Given the description of an element on the screen output the (x, y) to click on. 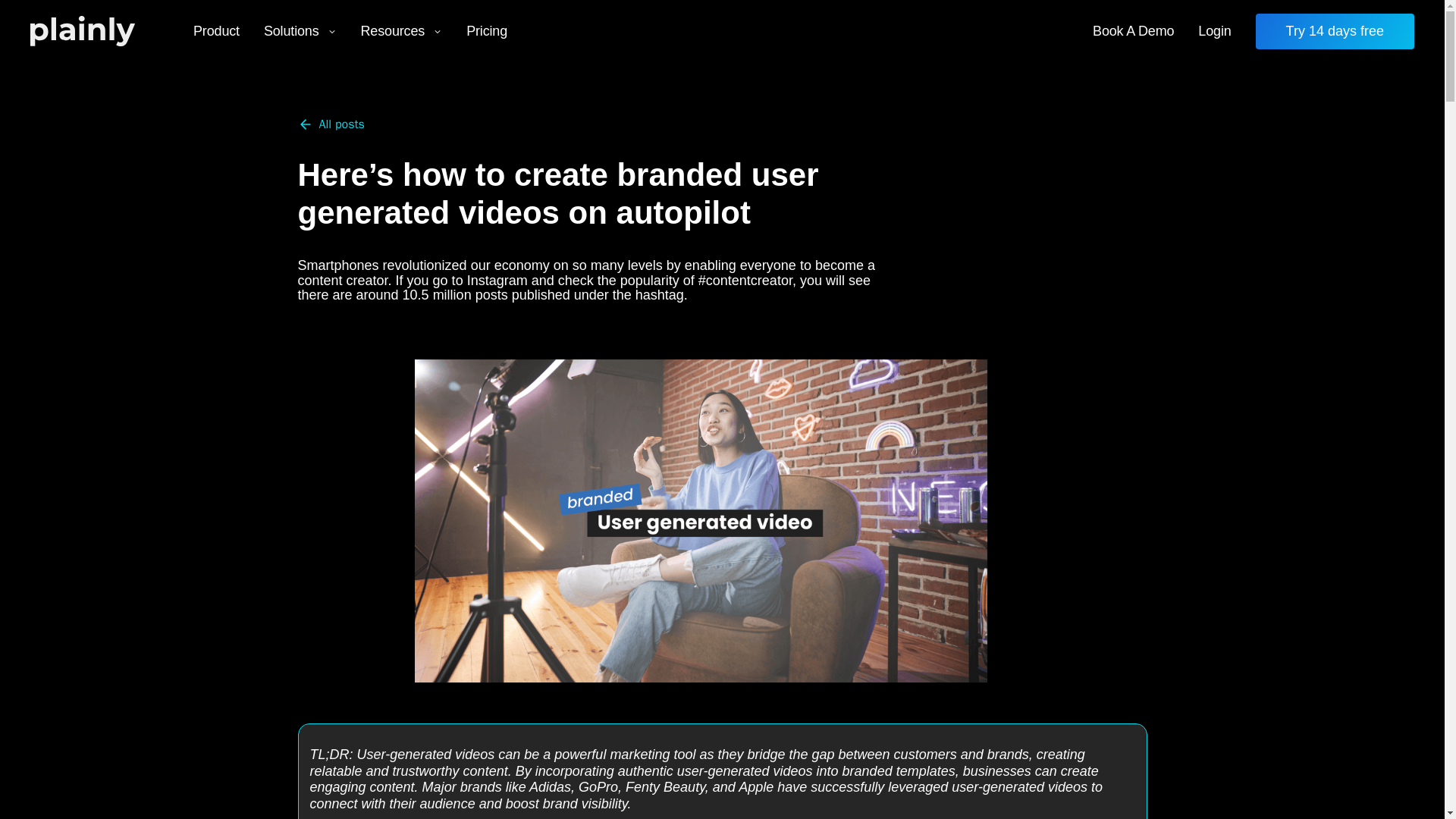
Pricing (486, 31)
Login (1214, 31)
Try 14 days free (1334, 31)
Book A Demo (1133, 31)
All posts (330, 124)
Product (215, 31)
